Given the description of an element on the screen output the (x, y) to click on. 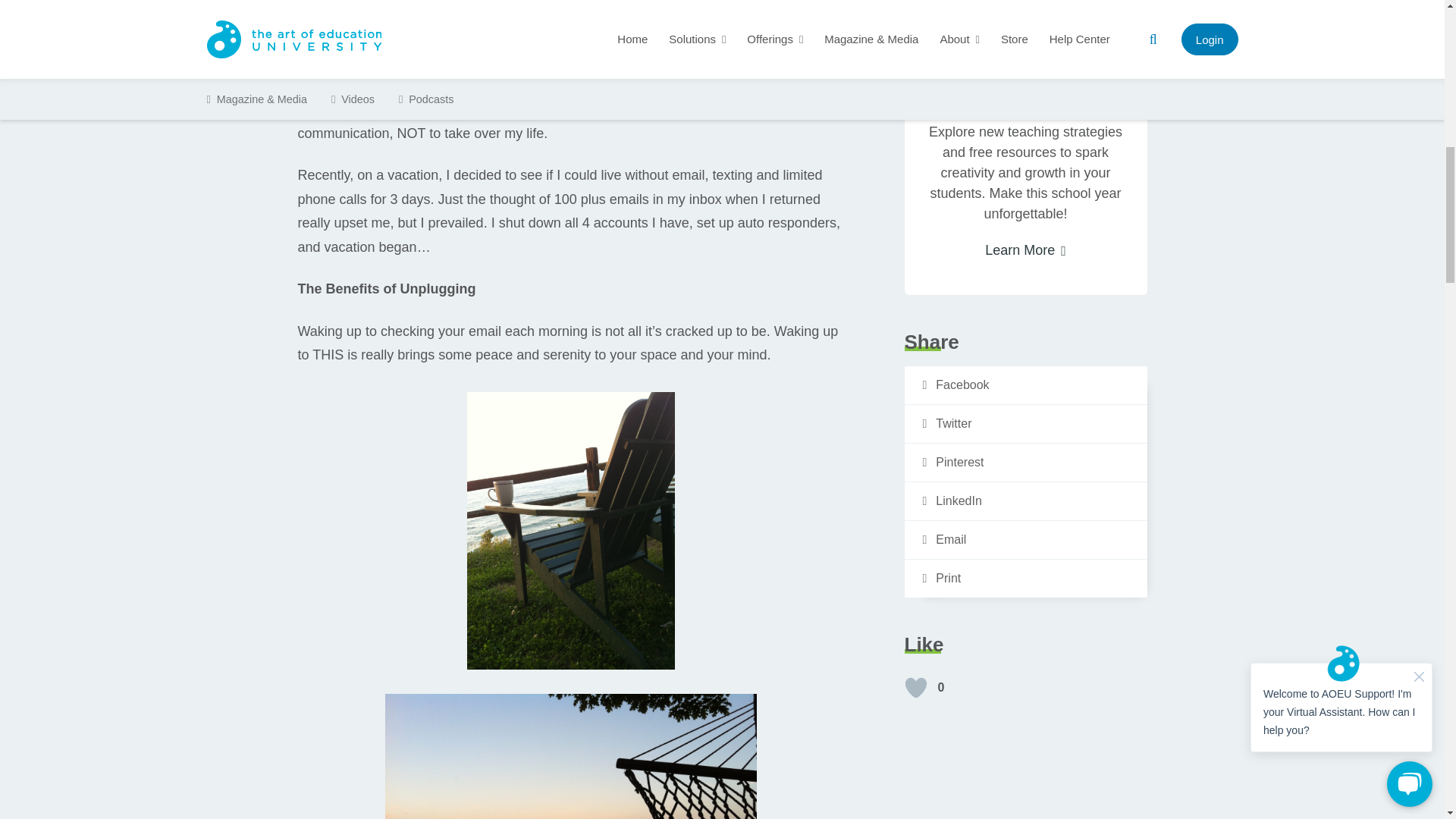
Learn More (1025, 250)
